Given the description of an element on the screen output the (x, y) to click on. 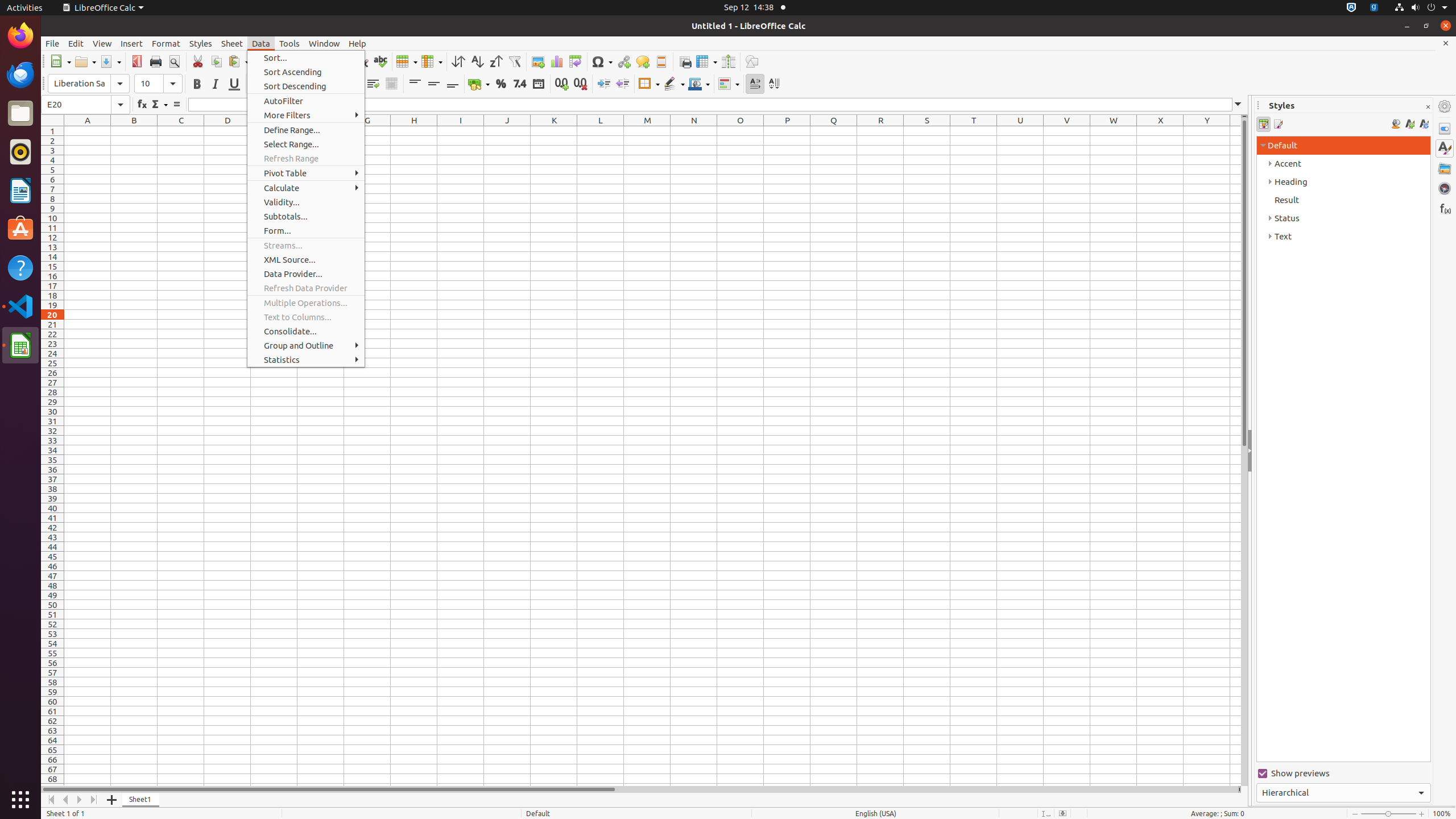
Help Element type: push-button (20, 267)
AutoFilter Element type: push-button (514, 61)
Split Window Element type: push-button (727, 61)
Freeze Rows and Columns Element type: push-button (705, 61)
Z1 Element type: table-cell (1235, 130)
